Given the description of an element on the screen output the (x, y) to click on. 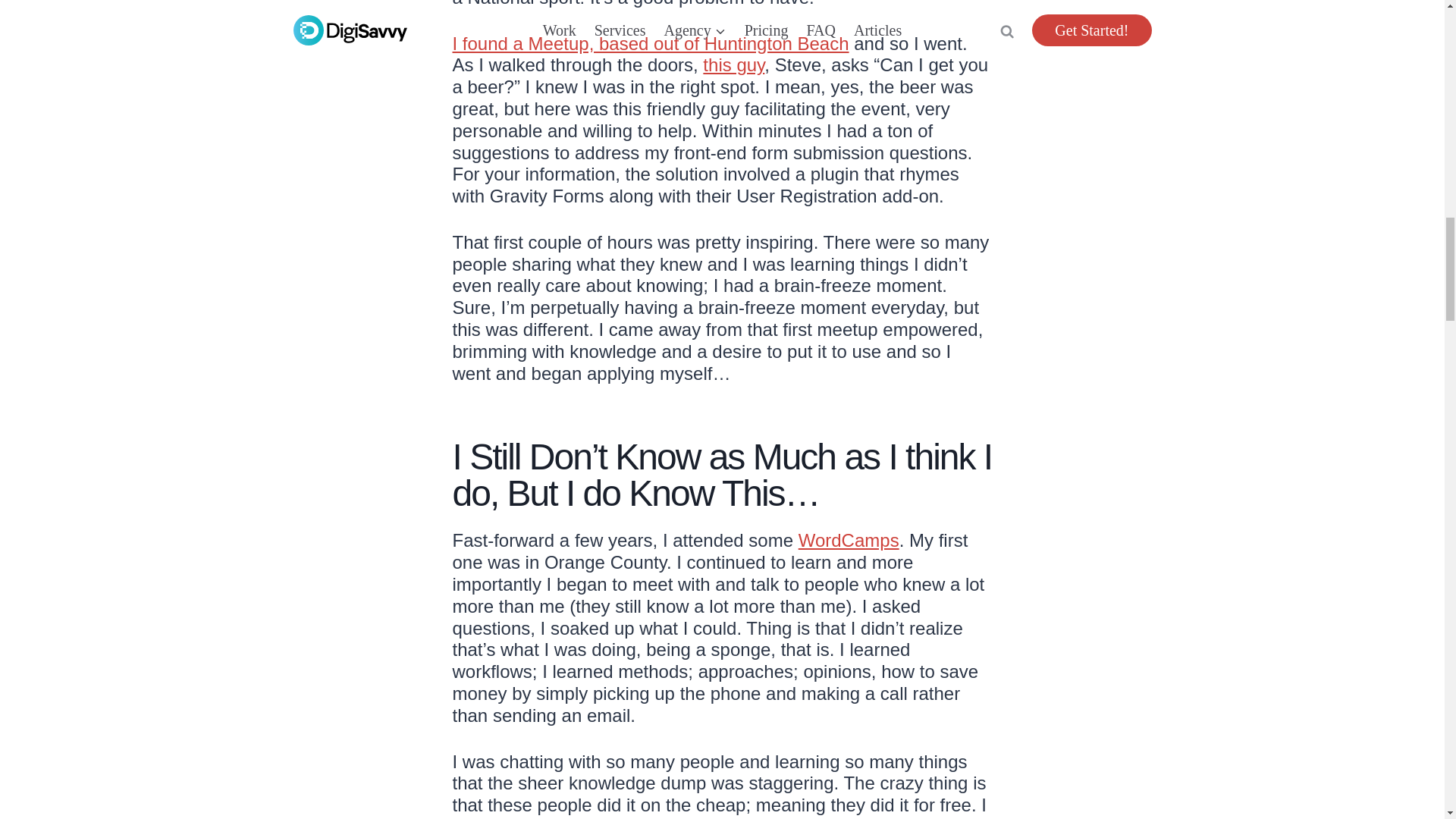
I found a Meetup, based out of Huntington Beach (649, 43)
WordCamps (848, 539)
this guy (733, 64)
